Given the description of an element on the screen output the (x, y) to click on. 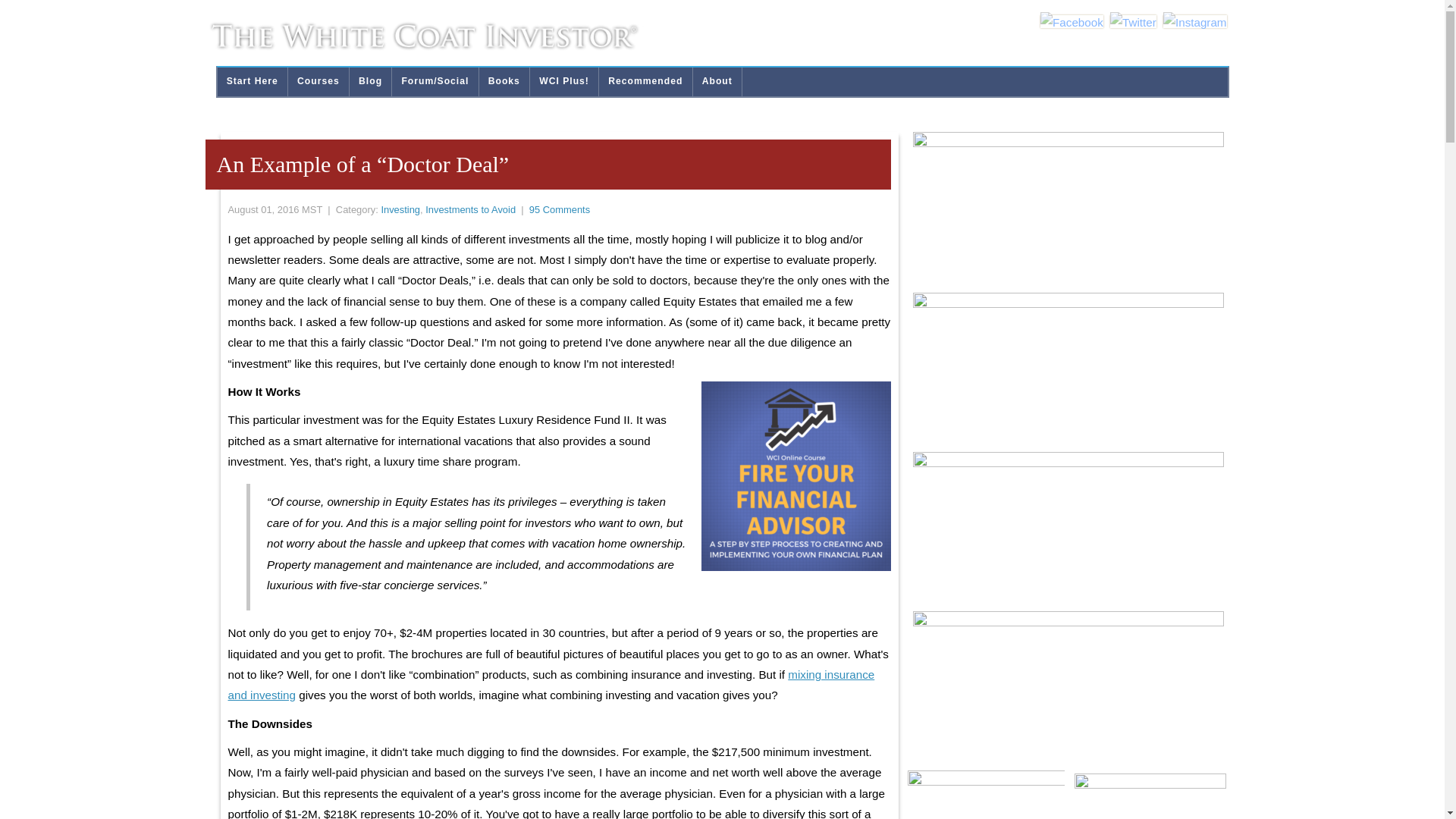
Blog (370, 81)
Mountain Standard Time (311, 209)
Instagram (1195, 22)
Facebook (1072, 22)
Start Here (251, 81)
WCI Plus! (563, 81)
Twitter (1132, 22)
Courses (318, 81)
Books (504, 81)
